Given the description of an element on the screen output the (x, y) to click on. 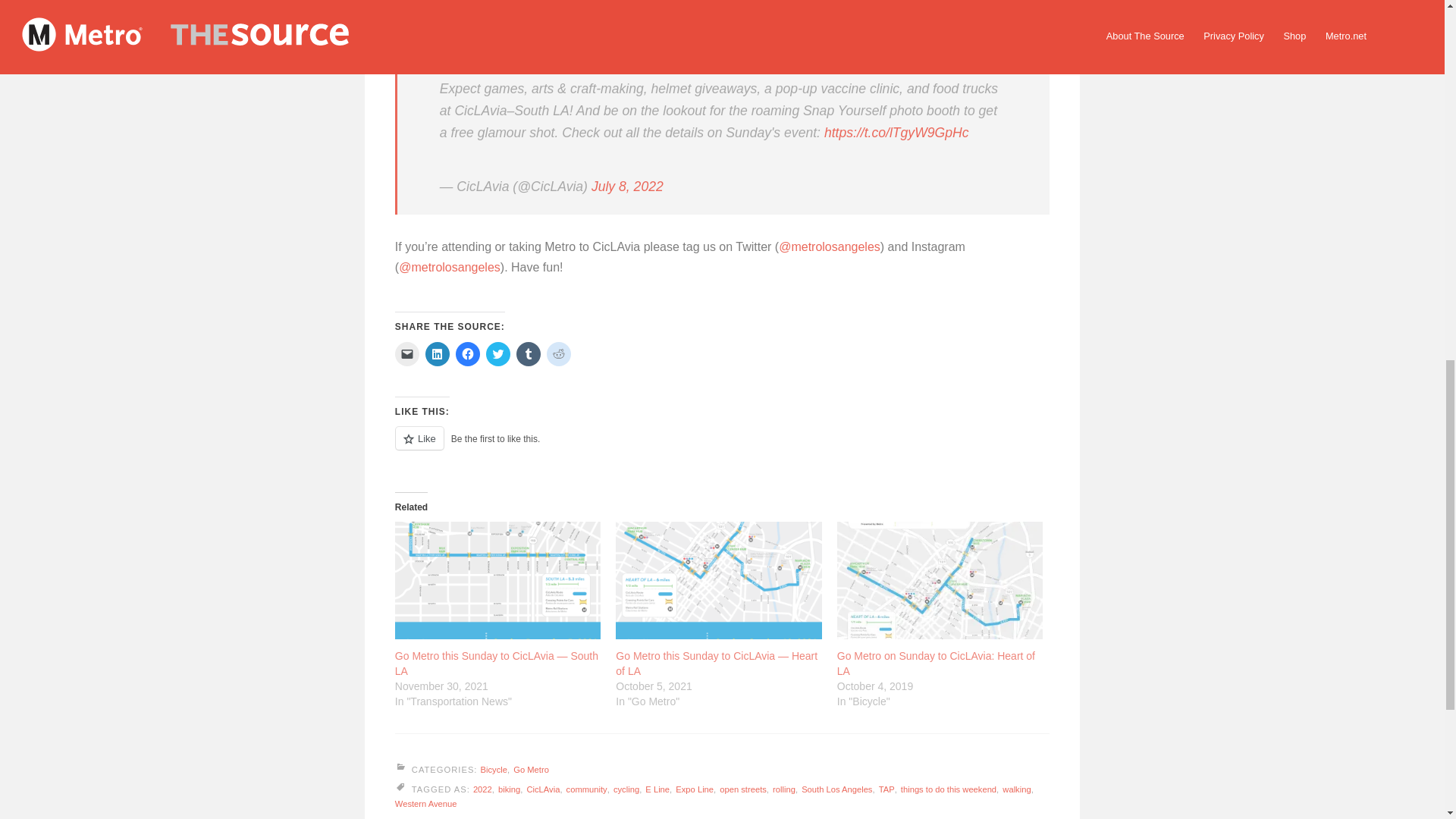
Click to share on Twitter (498, 354)
Click to share on Facebook (467, 354)
biking (508, 788)
community (586, 788)
open streets (743, 788)
July 8, 2022 (627, 186)
CicLAvia (542, 788)
Click to share on Reddit (558, 354)
2022 (482, 788)
Like or Reblog (721, 446)
Bicycle (493, 768)
E Line (657, 788)
Click to email a link to a friend (406, 354)
Click to share on LinkedIn (437, 354)
Go Metro (530, 768)
